Given the description of an element on the screen output the (x, y) to click on. 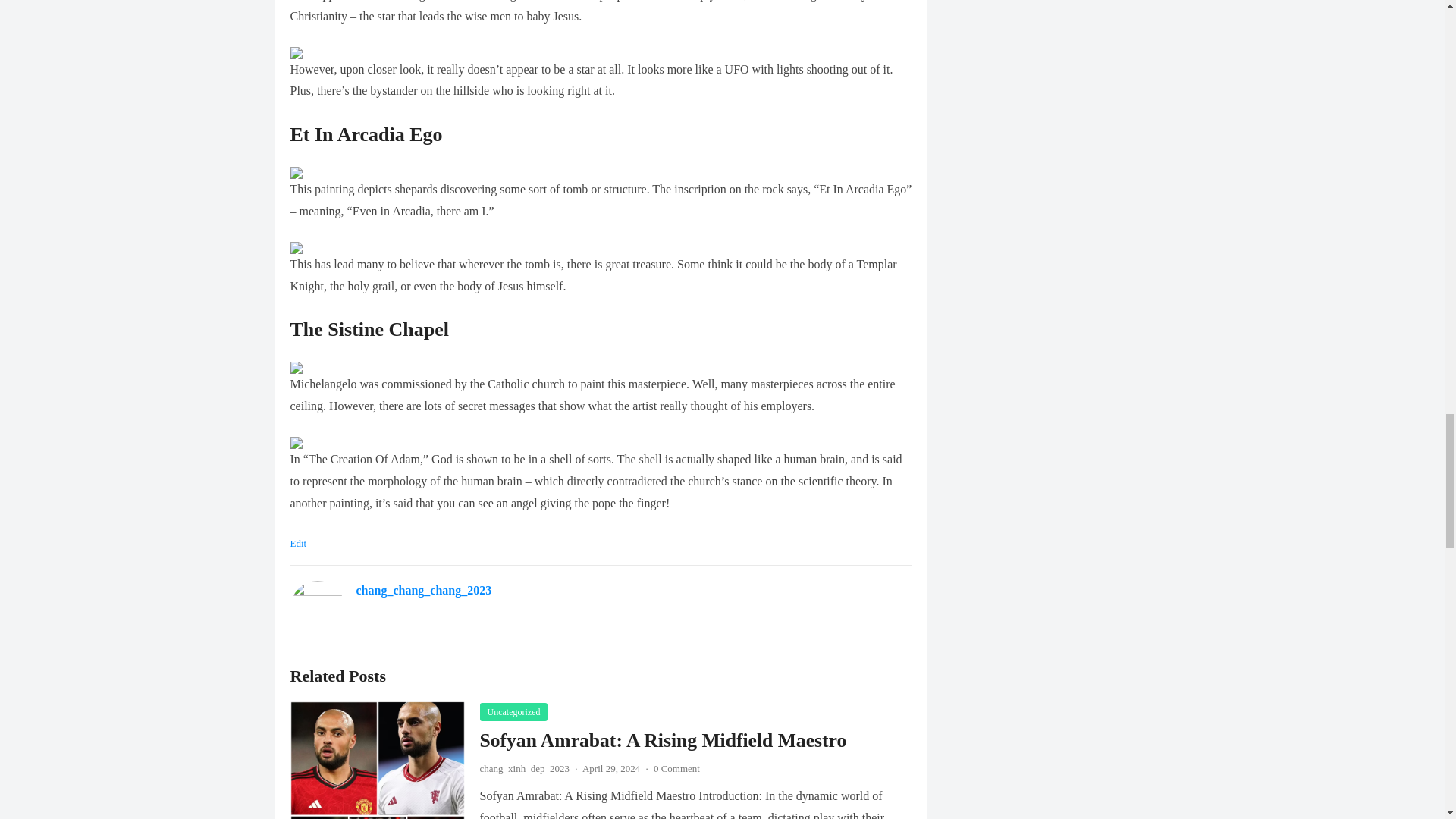
Sofyan Amrabat: A Rising Midfield Maestro (662, 740)
Uncategorized (513, 711)
0 Comment (676, 767)
